Given the description of an element on the screen output the (x, y) to click on. 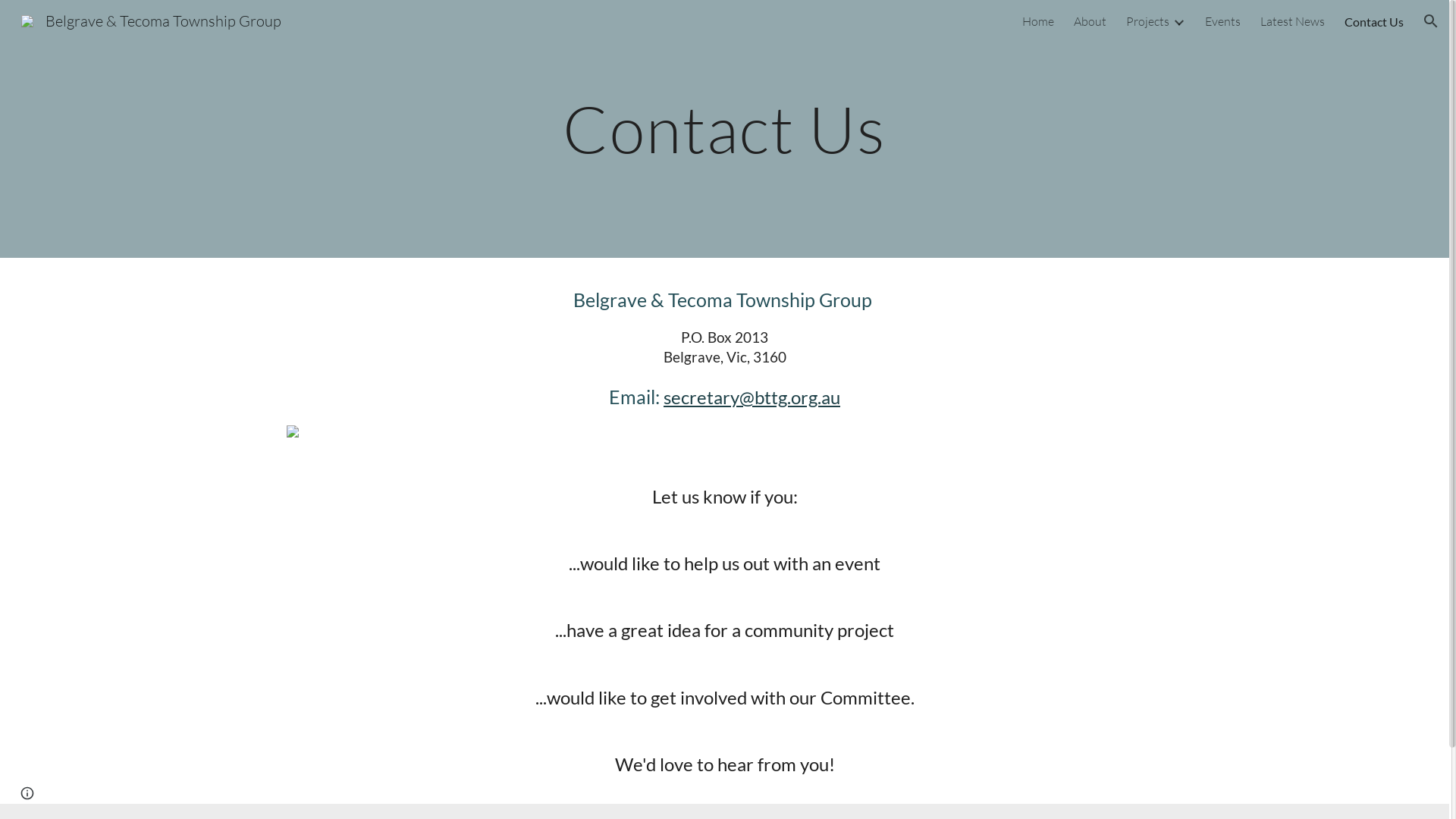
Events Element type: text (1222, 20)
Belgrave & Tecoma Township Group Element type: text (151, 18)
Contact Us Element type: text (1373, 20)
Home Element type: text (1038, 20)
About Element type: text (1089, 20)
secretary@bttg.org.au Element type: text (751, 396)
Latest News Element type: text (1292, 20)
Expand/Collapse Element type: hover (1178, 20)
Projects Element type: text (1147, 20)
